Given the description of an element on the screen output the (x, y) to click on. 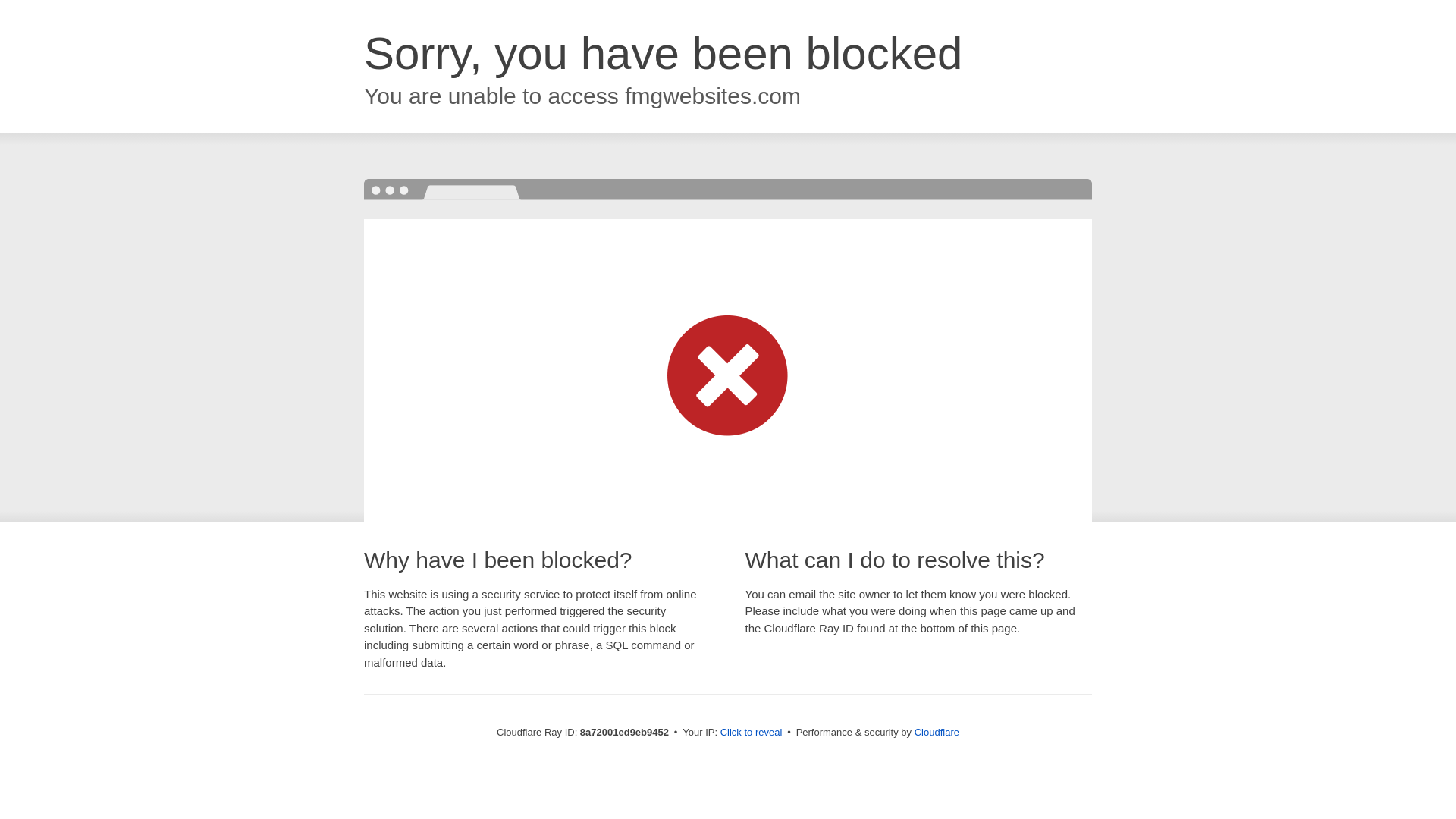
Click to reveal (751, 732)
Cloudflare (936, 731)
